Given the description of an element on the screen output the (x, y) to click on. 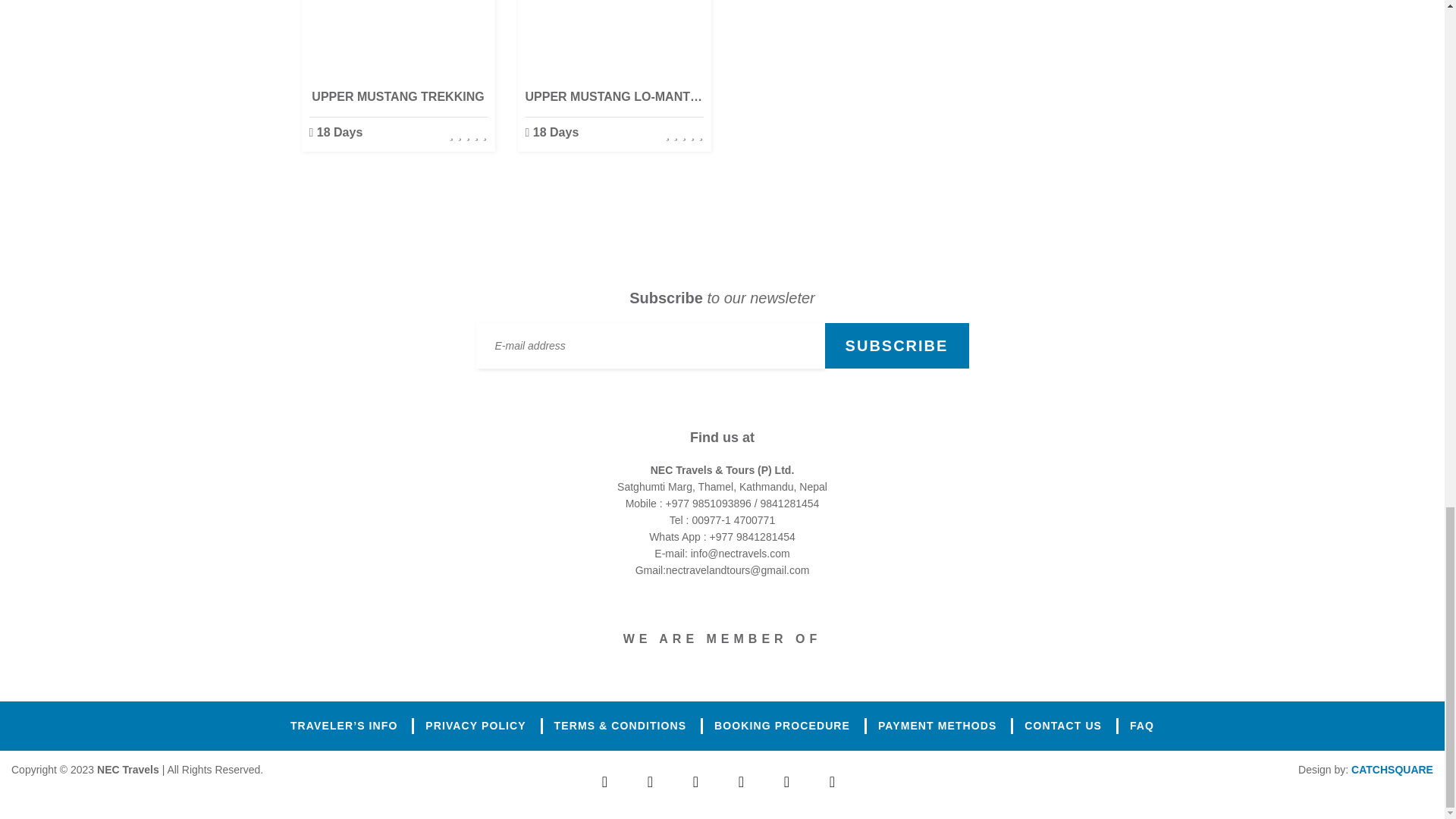
Subscribe (897, 345)
